Given the description of an element on the screen output the (x, y) to click on. 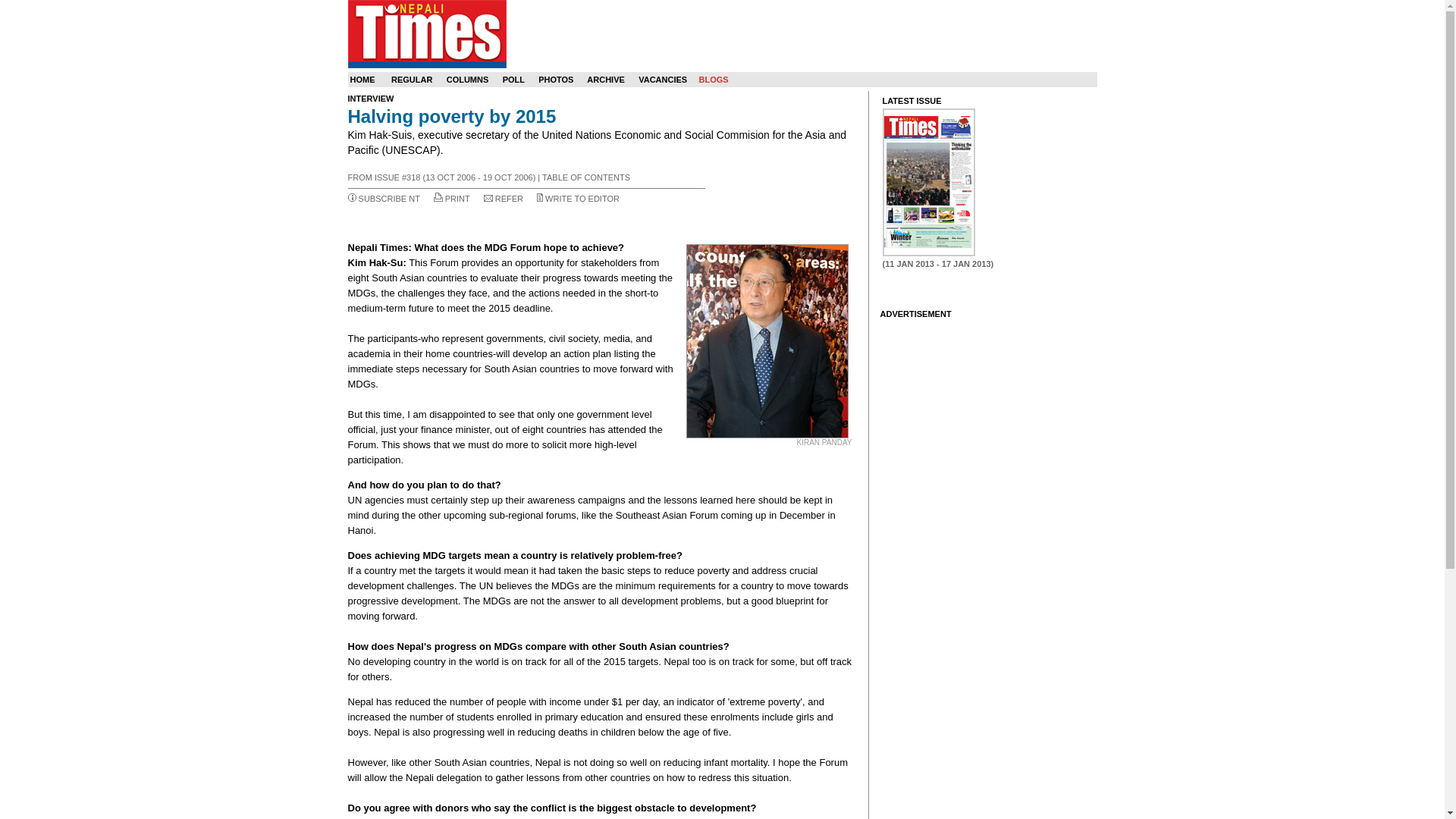
TABLE OF CONTENTS (585, 176)
SUBSCRIBE NT (389, 198)
ARCHIVE (605, 79)
POLL (513, 79)
BLOGS (713, 79)
PRINT (458, 198)
HOME (362, 79)
VACANCIES (663, 79)
WRITE TO EDITOR (582, 198)
REGULAR (411, 79)
COLUMNS (467, 79)
REFER (508, 198)
PHOTOS (555, 79)
Nepali Times (426, 33)
